Given the description of an element on the screen output the (x, y) to click on. 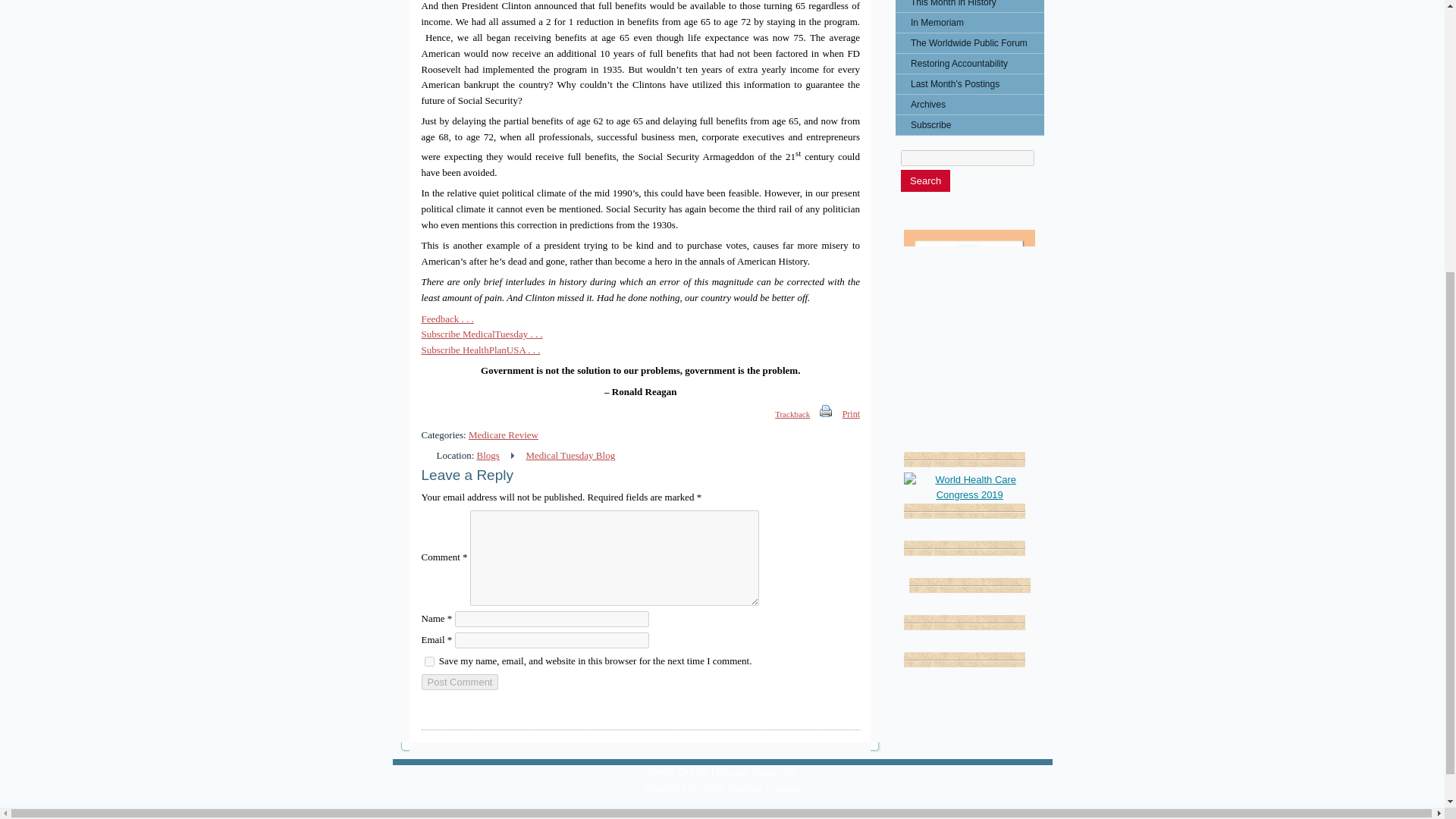
Trackback (784, 413)
Post Comment (460, 682)
Subscribe HealthPlanUSA . . . (481, 349)
Subscribe MedicalTuesday . . . (482, 333)
Post Comment (460, 682)
In Memoriam (969, 22)
Subscribe (969, 125)
Feedback . . . (448, 318)
The Worldwide Public Forum (969, 43)
Search (925, 180)
